Given the description of an element on the screen output the (x, y) to click on. 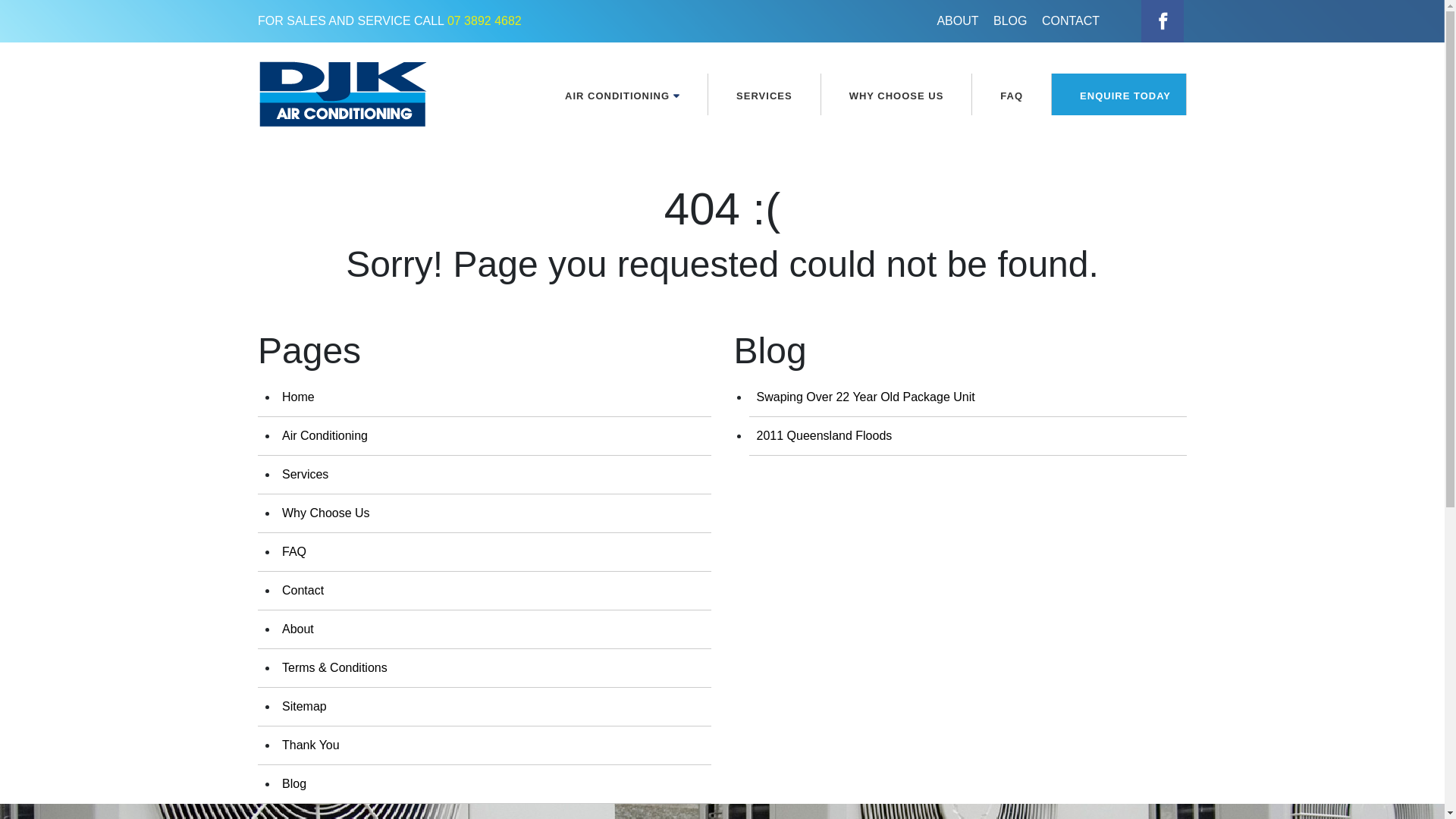
ABOUT Element type: text (957, 20)
About Element type: text (297, 628)
ENQUIRE TODAY Element type: text (1118, 95)
SERVICES Element type: text (764, 95)
FAQ Element type: text (1011, 95)
Air Conditioning Element type: text (324, 435)
AIR CONDITIONING Element type: text (622, 95)
Home Element type: text (298, 396)
Terms & Conditions Element type: text (334, 667)
Thank You Element type: text (310, 744)
Why Choose Us Element type: text (326, 512)
CONTACT Element type: text (1070, 20)
WHY CHOOSE US Element type: text (896, 95)
BLOG Element type: text (1009, 20)
Services Element type: text (305, 473)
Contact Element type: text (302, 589)
FAQ Element type: text (294, 551)
Blog Element type: text (294, 783)
07 3892 4682 Element type: text (484, 20)
Sitemap Element type: text (304, 705)
2011 Queensland Floods Element type: text (824, 435)
Swaping Over 22 Year Old Package Unit Element type: text (865, 396)
